Given the description of an element on the screen output the (x, y) to click on. 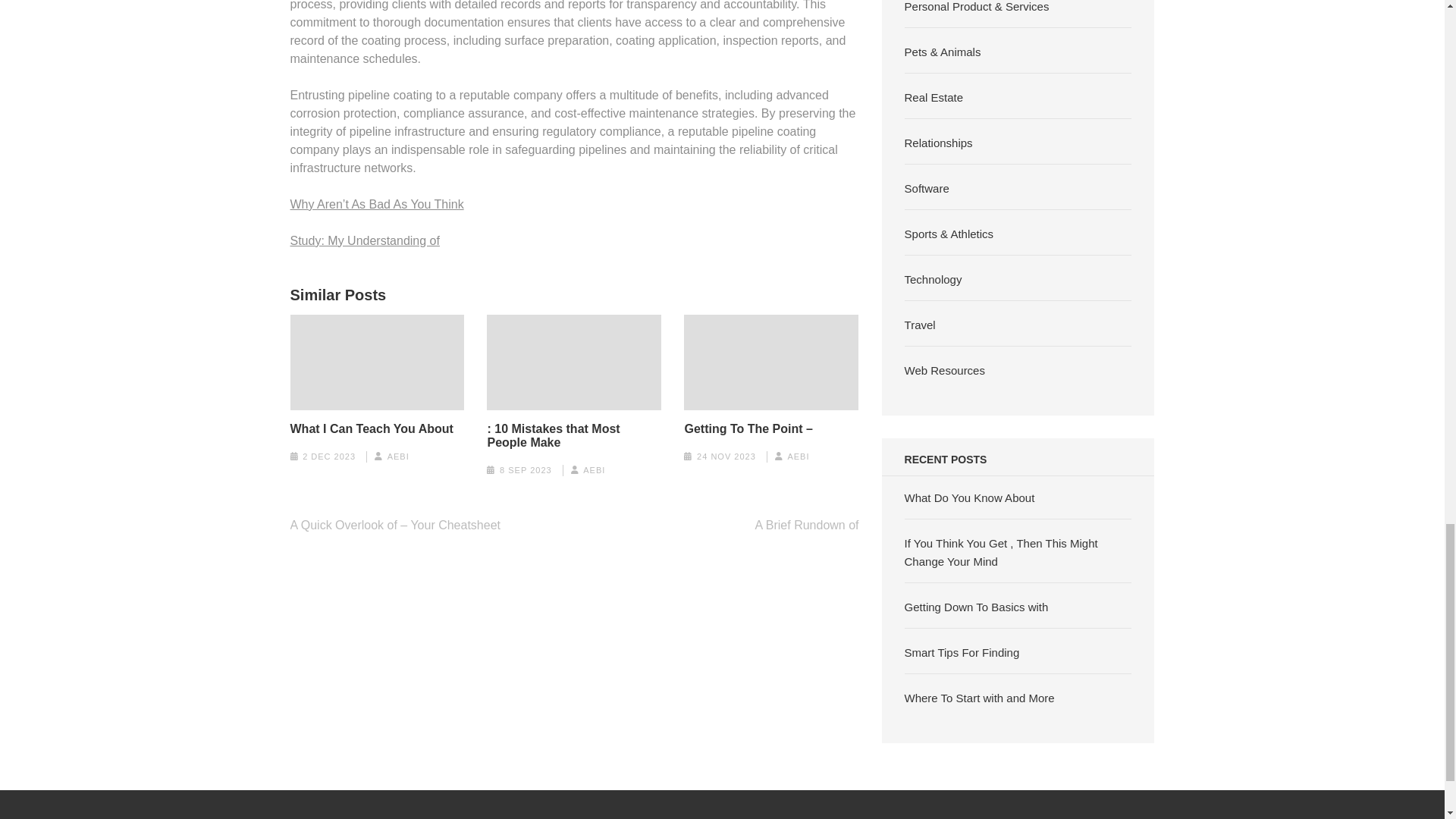
2 DEC 2023 (328, 456)
A Brief Rundown of (807, 524)
24 NOV 2023 (726, 456)
AEBI (594, 470)
AEBI (798, 456)
AEBI (398, 456)
: 10 Mistakes that Most People Make (573, 435)
What I Can Teach You About (370, 428)
Study: My Understanding of (364, 239)
8 SEP 2023 (525, 470)
